Given the description of an element on the screen output the (x, y) to click on. 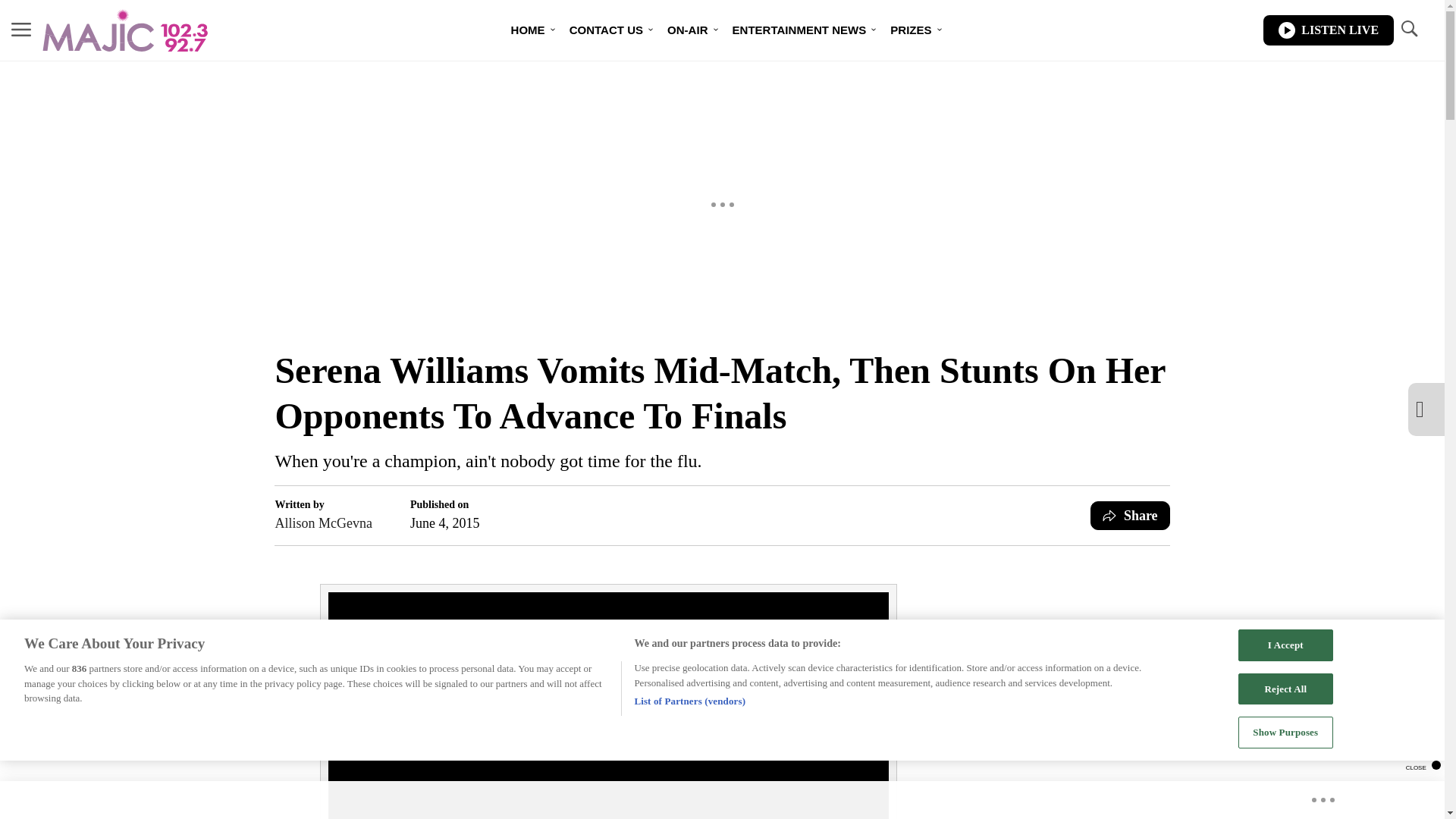
TOGGLE SEARCH (1408, 30)
TOGGLE SEARCH (1408, 28)
LISTEN LIVE (1328, 30)
HOME (528, 30)
MENU (20, 29)
CONTACT US (606, 30)
MENU (20, 30)
ON-AIR (687, 30)
Share (1130, 515)
Allison McGevna (323, 522)
ENTERTAINMENT NEWS (799, 30)
PRIZES (910, 30)
